Given the description of an element on the screen output the (x, y) to click on. 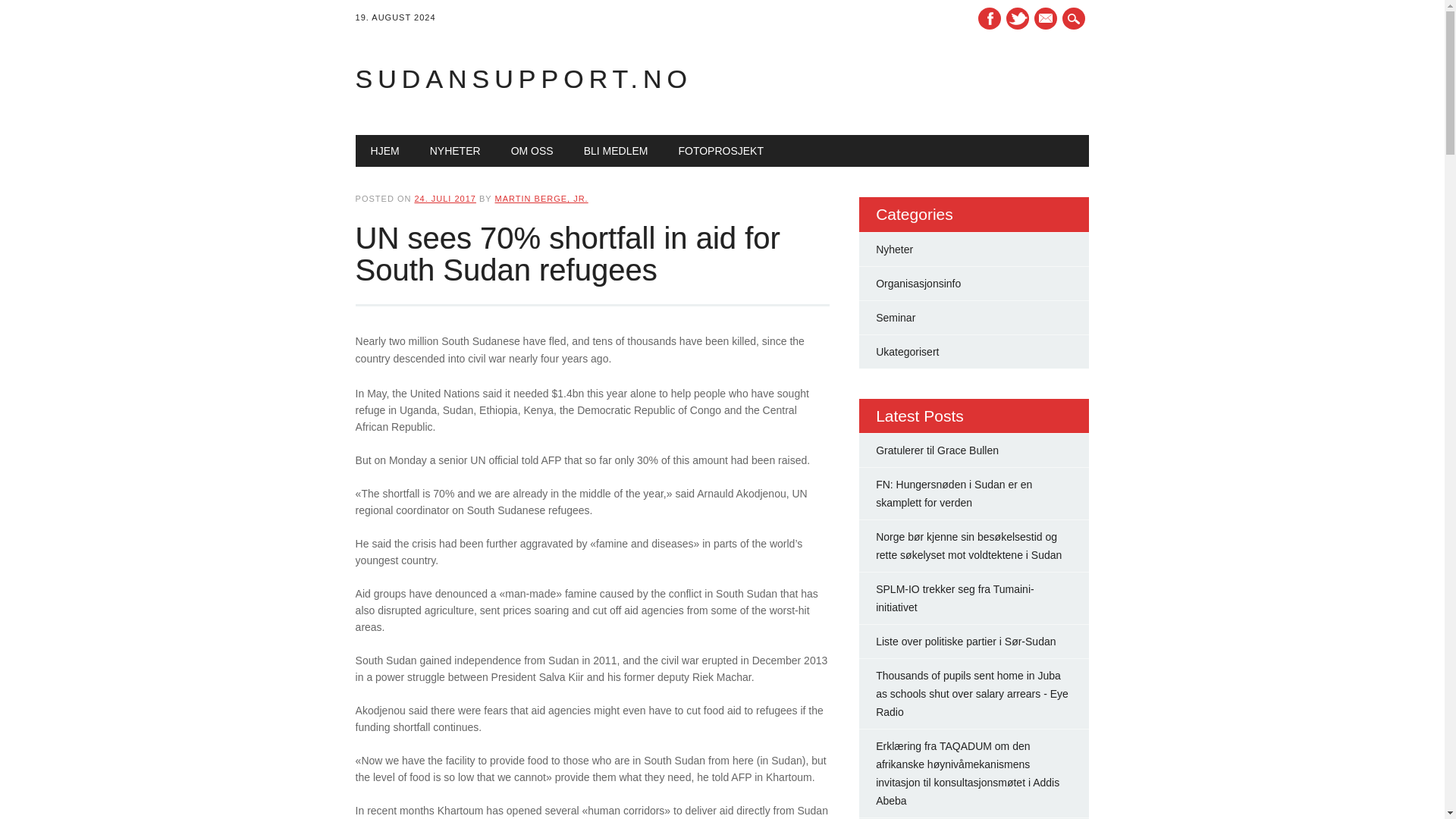
NYHETER (455, 151)
HJEM (384, 151)
Organisasjonsinfo (918, 283)
E-mail (1045, 18)
Look SPLM-IO trekker seg fra Tumaini-initiativet (954, 598)
Ukategorisert (907, 351)
Facebook (989, 18)
BLI MEDLEM (616, 151)
FOTOPROSJEKT (720, 151)
View all posts by Martin Berge, Jr. (541, 198)
